Given the description of an element on the screen output the (x, y) to click on. 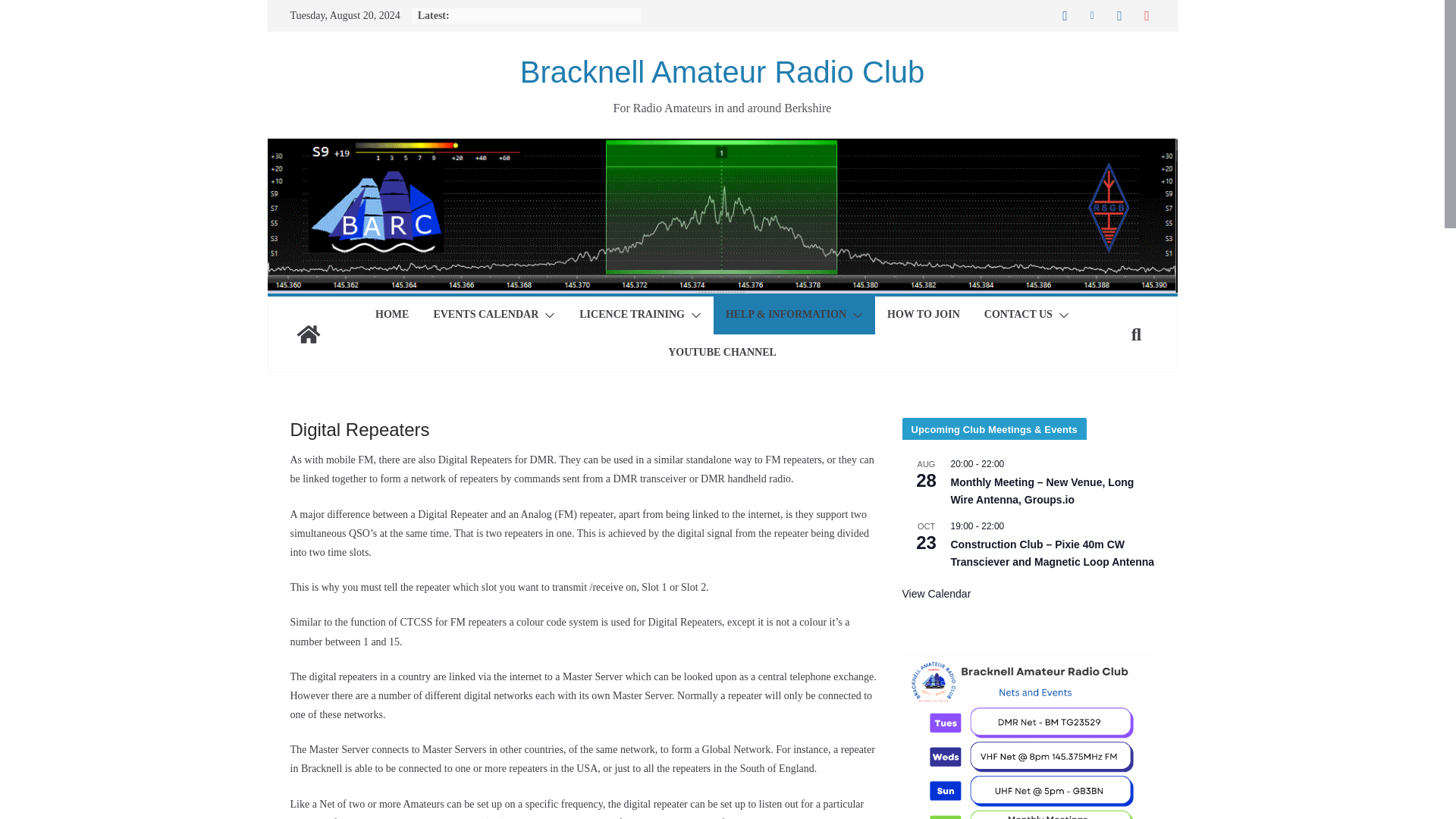
Bracknell Amateur Radio Club (721, 147)
CONTACT US (1018, 314)
Bracknell Amateur Radio Club (721, 71)
LICENCE TRAINING (631, 314)
View more events. (936, 594)
HOME (392, 314)
HOW TO JOIN (922, 314)
EVENTS CALENDAR (485, 314)
Bracknell Amateur Radio Club (307, 334)
Bracknell Amateur Radio Club (721, 71)
